Given the description of an element on the screen output the (x, y) to click on. 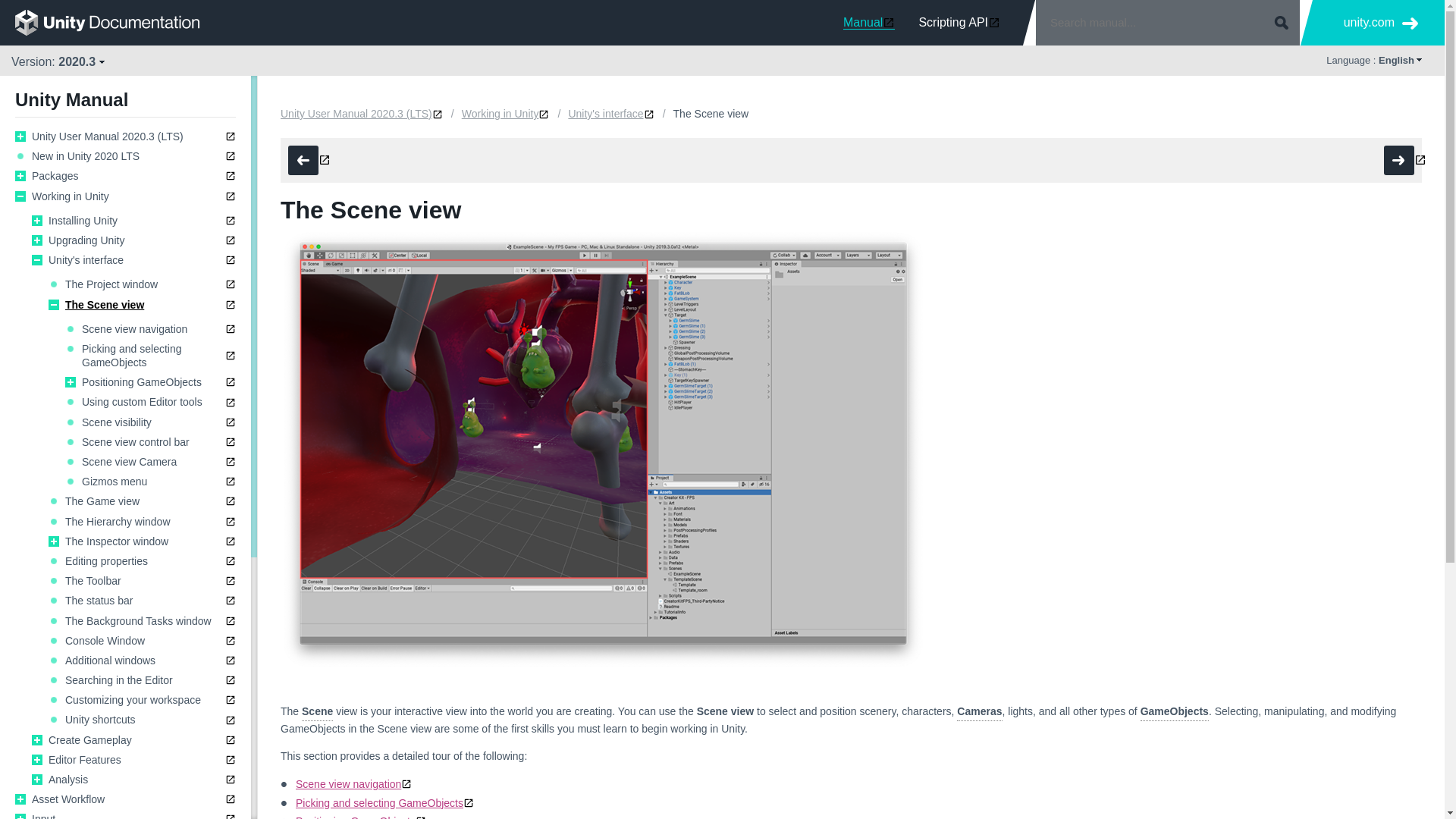
Manual (869, 22)
Scripting API (959, 22)
unity.com (1380, 22)
